Given the description of an element on the screen output the (x, y) to click on. 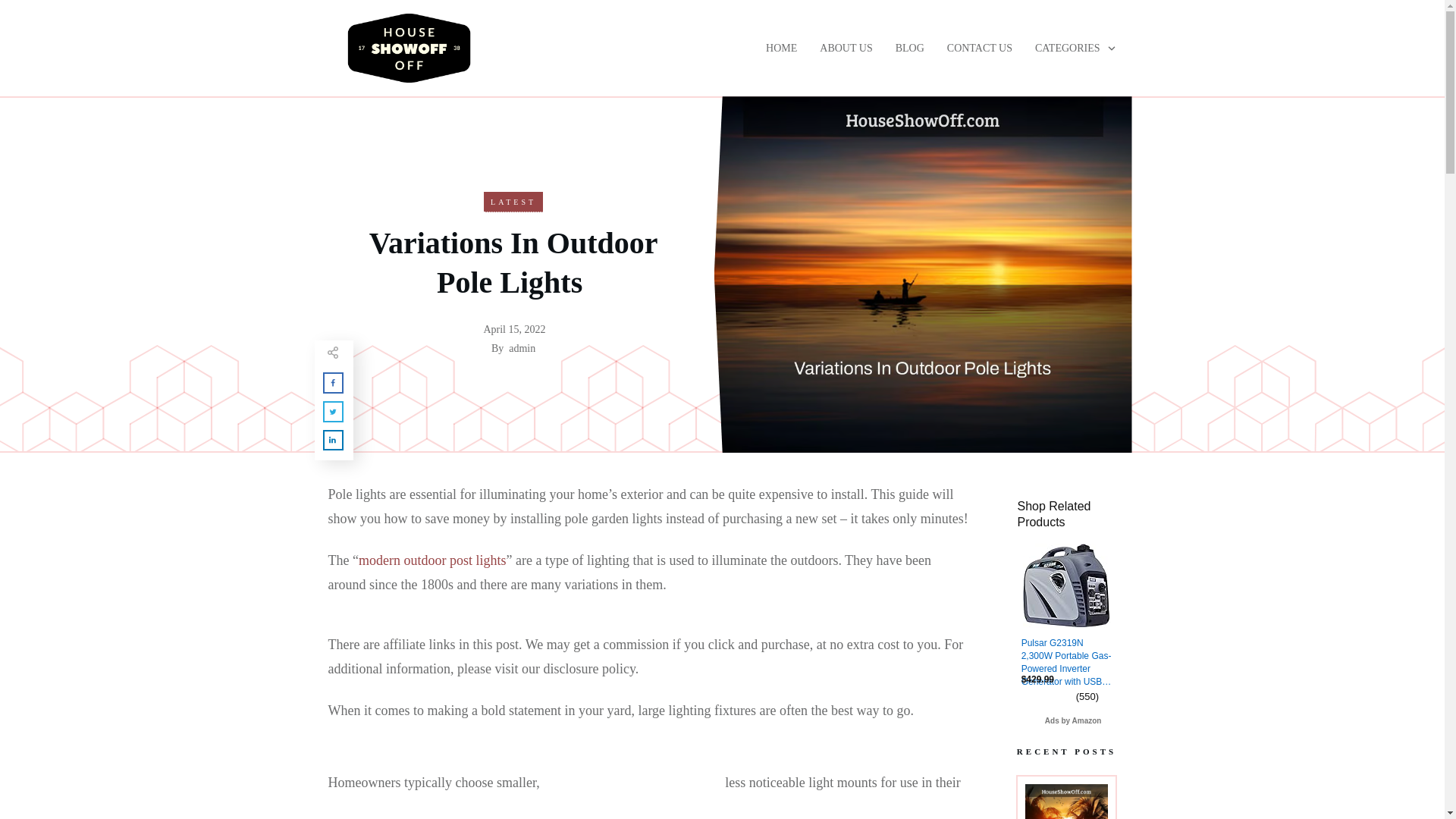
CONTACT US (979, 48)
ABOUT US (845, 48)
Latest (512, 202)
CATEGORIES (1075, 48)
modern outdoor post lights (432, 560)
LATEST (512, 202)
HOME (780, 48)
Ads by Amazon (1073, 720)
AdChoices (1109, 720)
BLOG (909, 48)
